Given the description of an element on the screen output the (x, y) to click on. 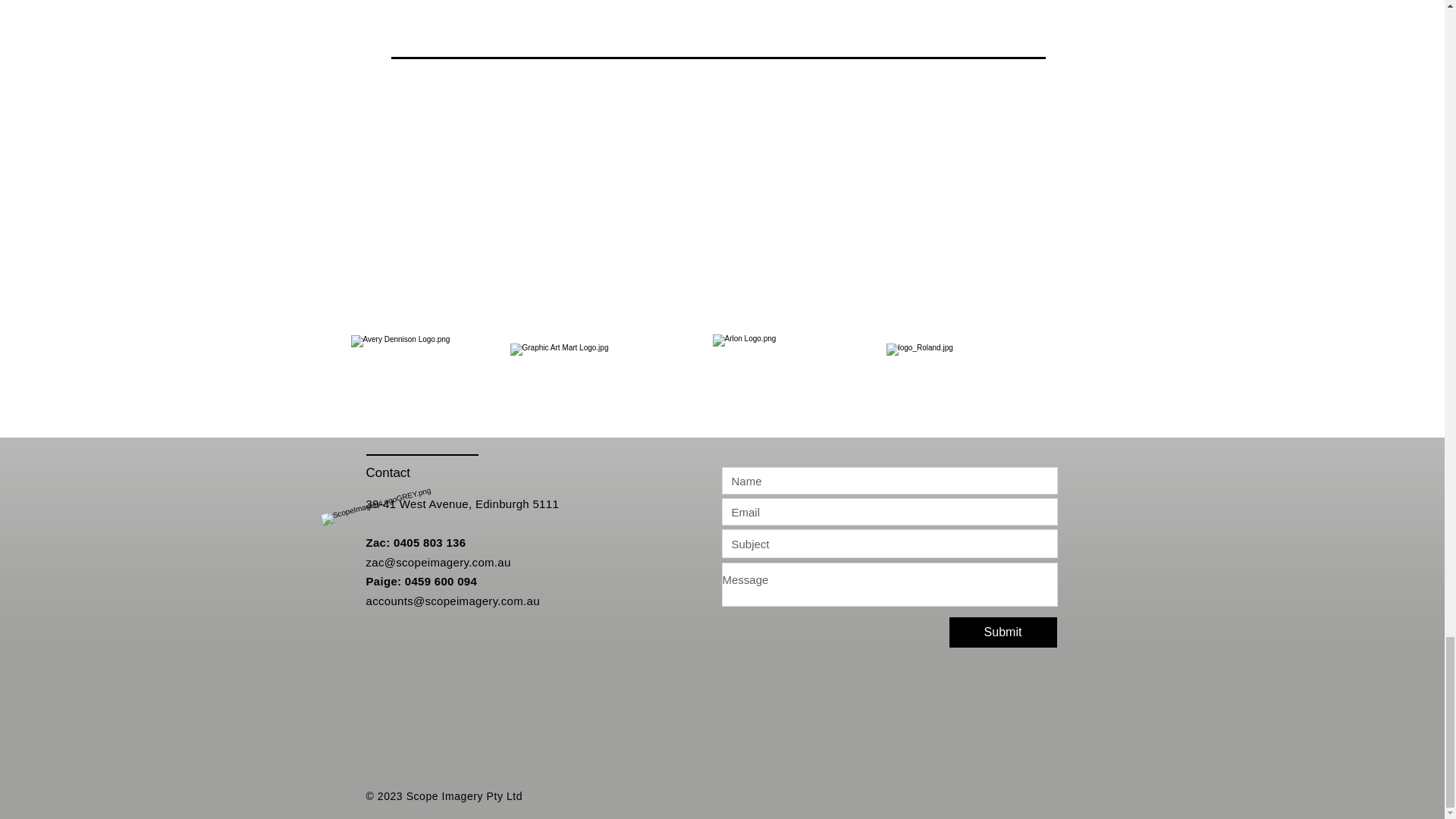
Submit (1003, 632)
